Given the description of an element on the screen output the (x, y) to click on. 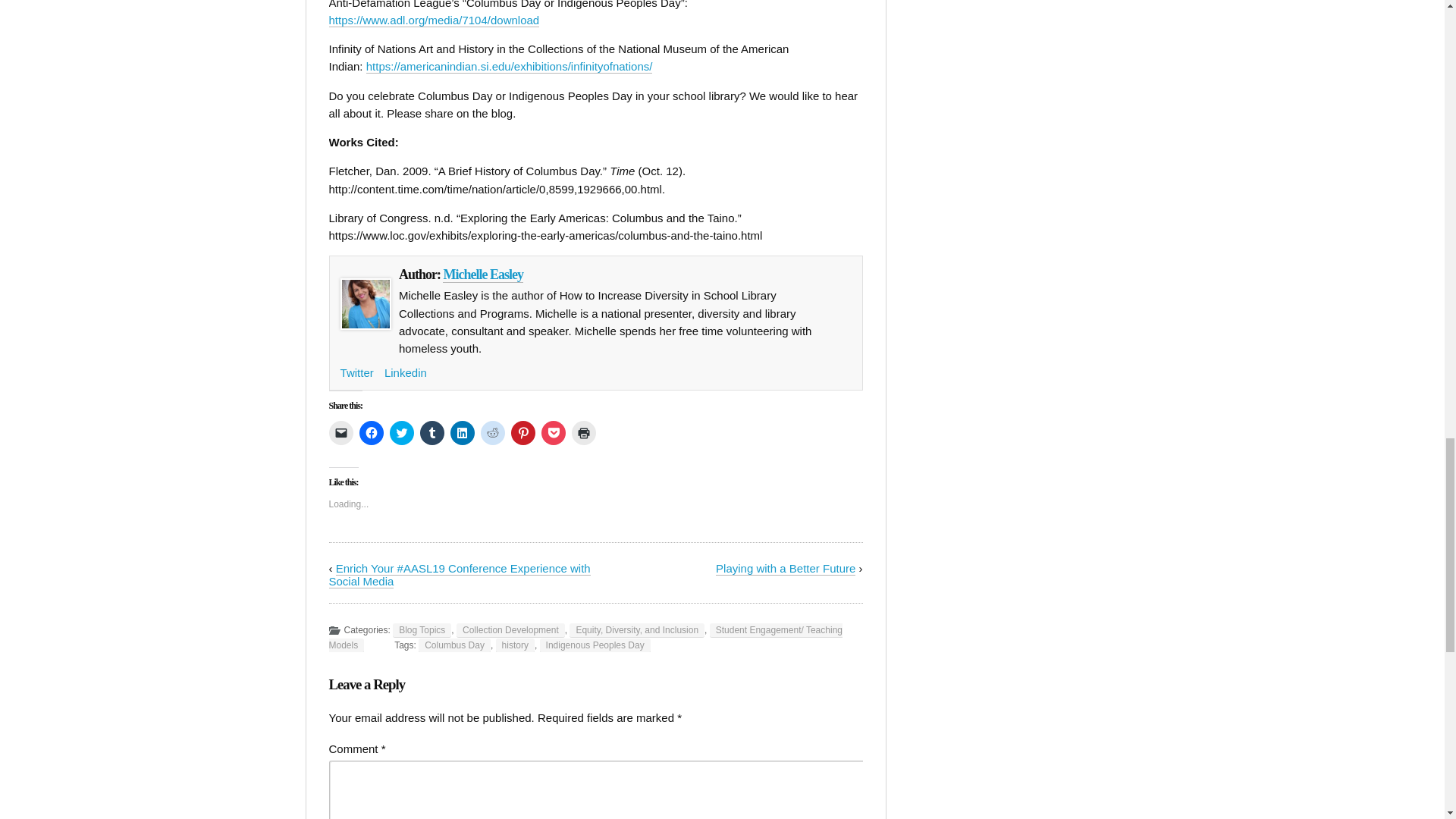
Click to share on Reddit (492, 432)
Click to share on Facebook (371, 432)
Click to share on Pocket (553, 432)
Click to share on LinkedIn (461, 432)
Click to share on Twitter (401, 432)
Click to print (583, 432)
Click to share on Pinterest (523, 432)
Click to email a link to a friend (341, 432)
Click to share on Tumblr (432, 432)
